Given the description of an element on the screen output the (x, y) to click on. 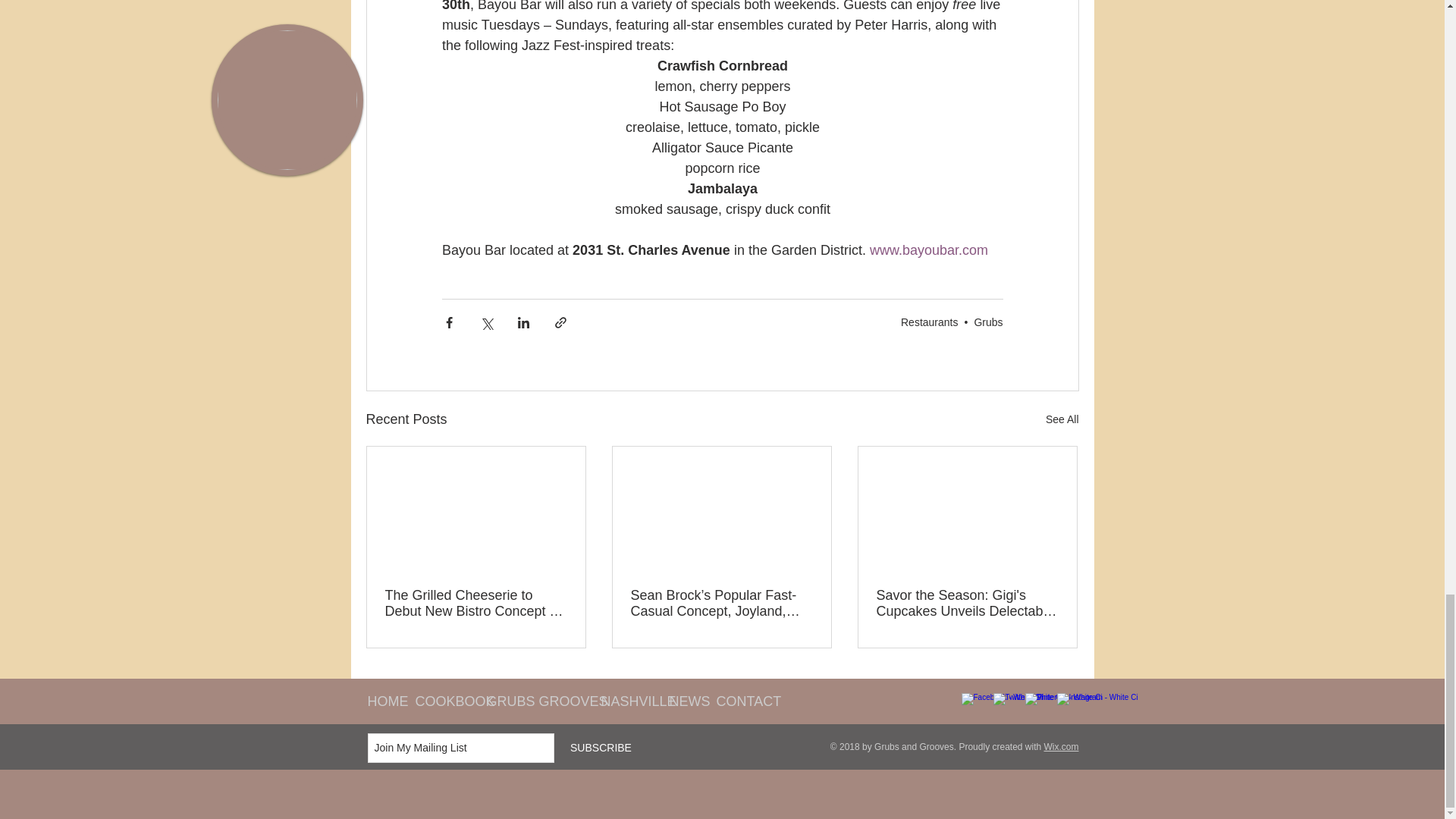
Grubs (988, 322)
Restaurants (929, 322)
See All (1061, 419)
www.bayoubar.com (928, 249)
